Given the description of an element on the screen output the (x, y) to click on. 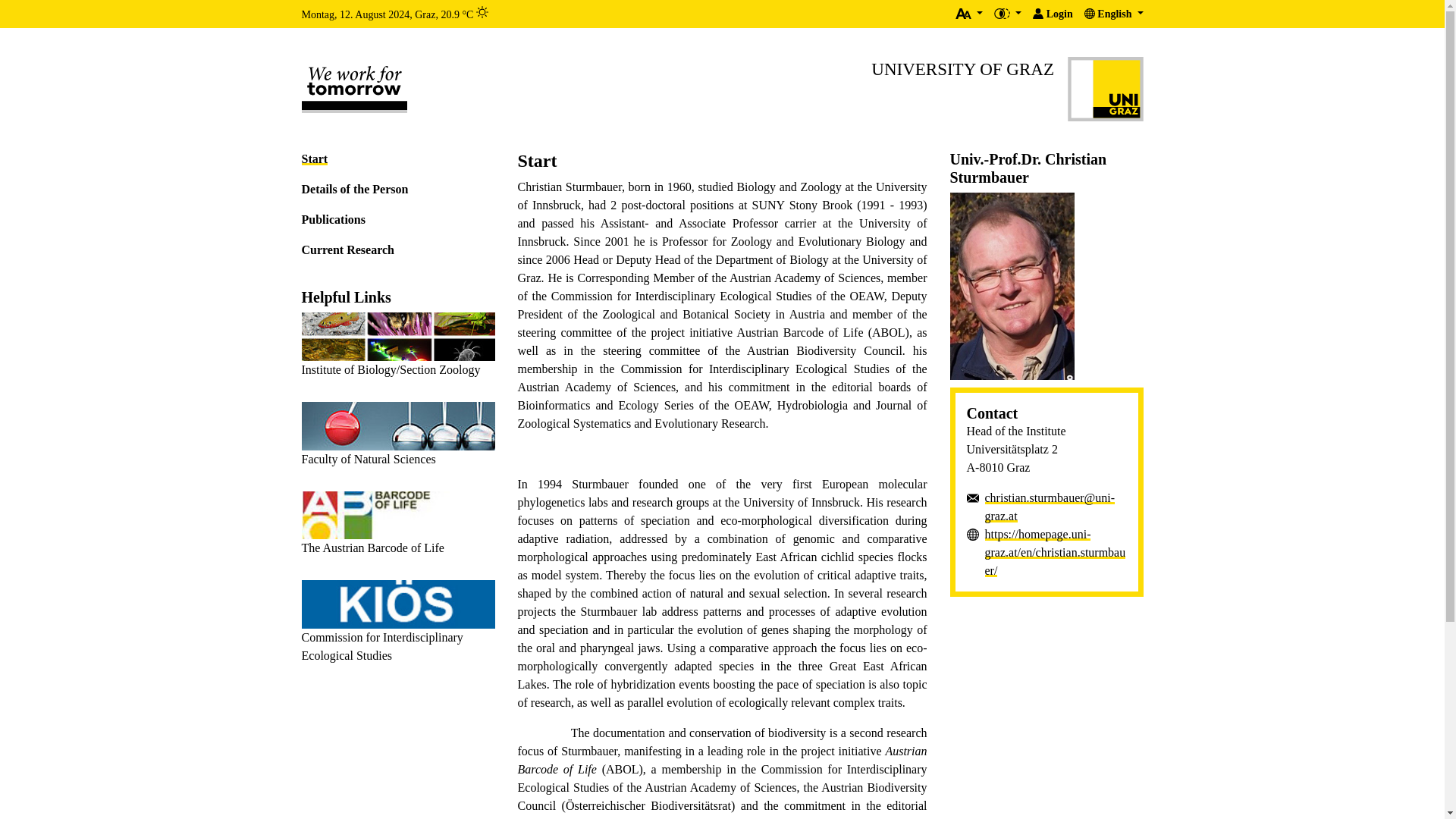
Start (398, 159)
Publications (398, 219)
Font size: (968, 13)
Contrast: (1002, 13)
Heiter (1113, 13)
Font size: (481, 11)
Contrast: (968, 13)
Current Research (1052, 13)
